Given the description of an element on the screen output the (x, y) to click on. 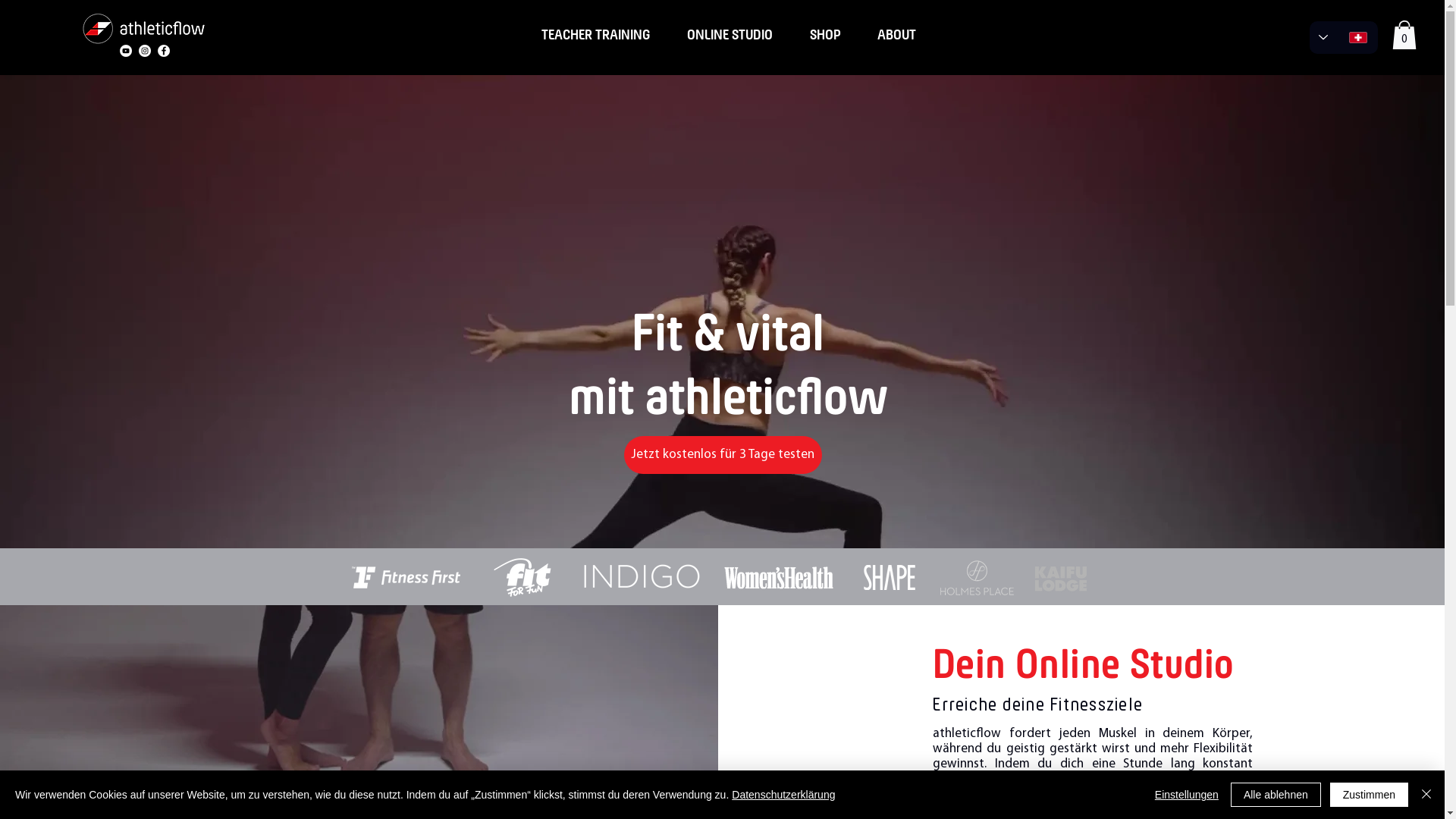
Alle ablehnen Element type: text (1275, 794)
TEACHER TRAINING Element type: text (595, 34)
Zustimmen Element type: text (1369, 794)
ABOUT Element type: text (895, 34)
0 Element type: text (1404, 34)
ONLINE STUDIO Element type: text (729, 34)
SHOP Element type: text (825, 34)
